Given the description of an element on the screen output the (x, y) to click on. 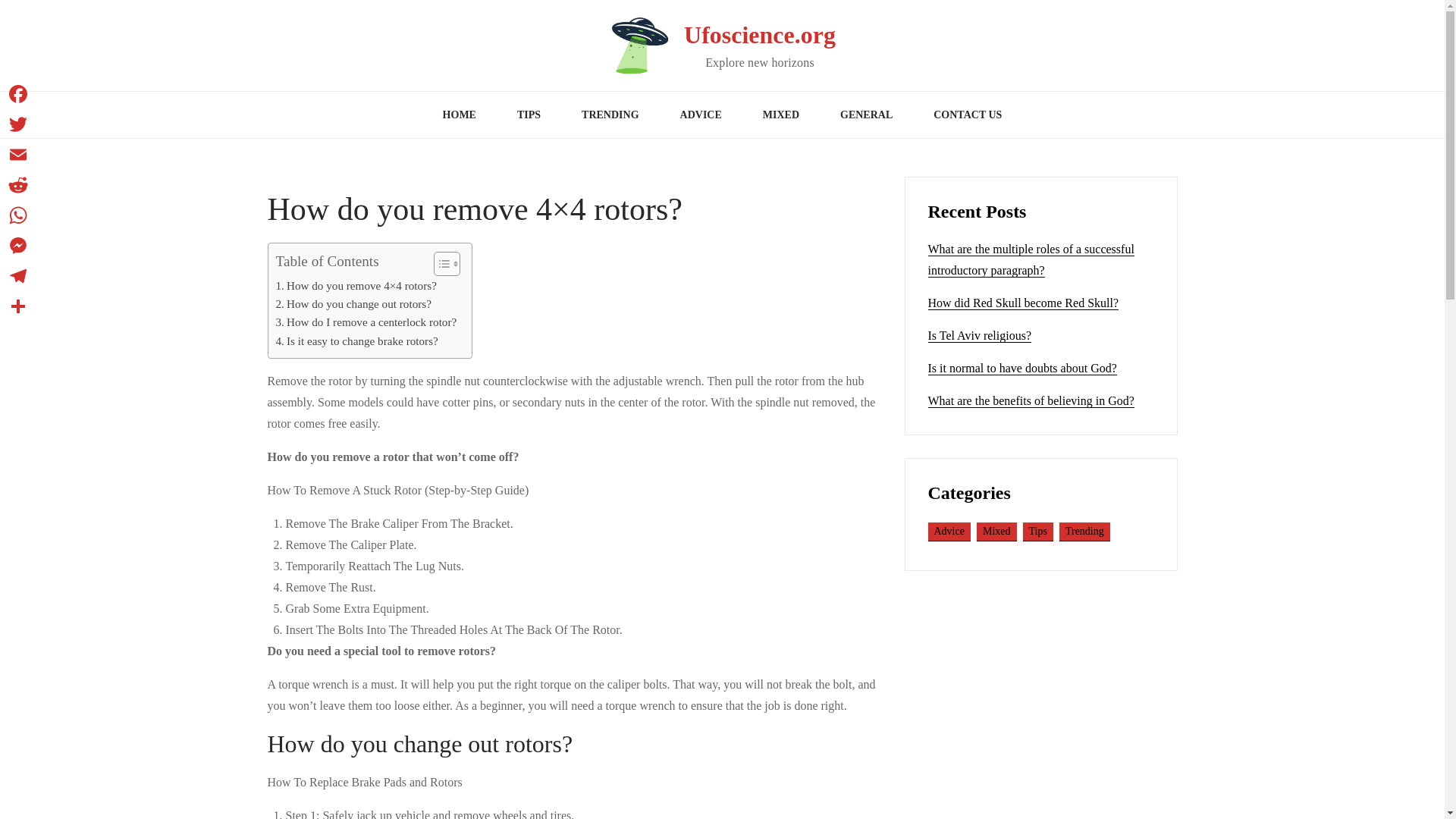
Advice (949, 531)
CONTACT US (967, 114)
How did Red Skull become Red Skull? (1023, 303)
GENERAL (866, 114)
MIXED (781, 114)
Telegram (17, 276)
Facebook (17, 93)
Trending (1084, 531)
Is it easy to change brake rotors? (357, 341)
Facebook (17, 93)
